Given the description of an element on the screen output the (x, y) to click on. 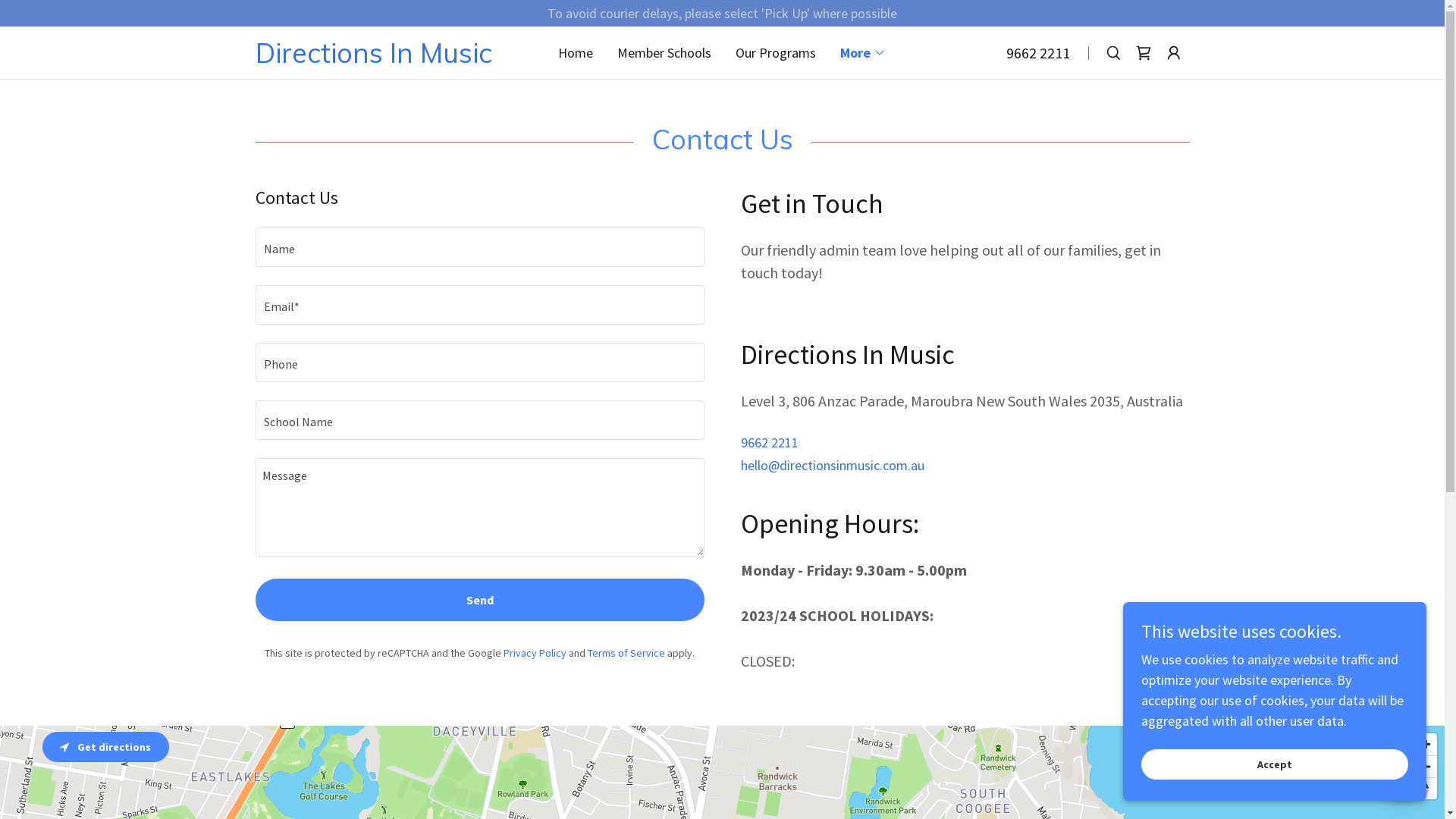
Zoom out Element type: hover (1426, 766)
Reset bearing to north Element type: hover (1426, 788)
Send Element type: text (478, 599)
Directions In Music Element type: text (394, 57)
9662 2211 Element type: text (768, 442)
Terms of Service Element type: text (626, 652)
Privacy Policy Element type: text (534, 652)
Get directions Element type: text (105, 746)
Member Schools Element type: text (663, 52)
Accept Element type: text (1274, 764)
Our Programs Element type: text (775, 52)
More Element type: text (862, 52)
Zoom in Element type: hover (1426, 744)
hello@directionsinmusic.com.au Element type: text (831, 464)
9662 2211 Element type: text (1038, 51)
Home Element type: text (575, 52)
